Given the description of an element on the screen output the (x, y) to click on. 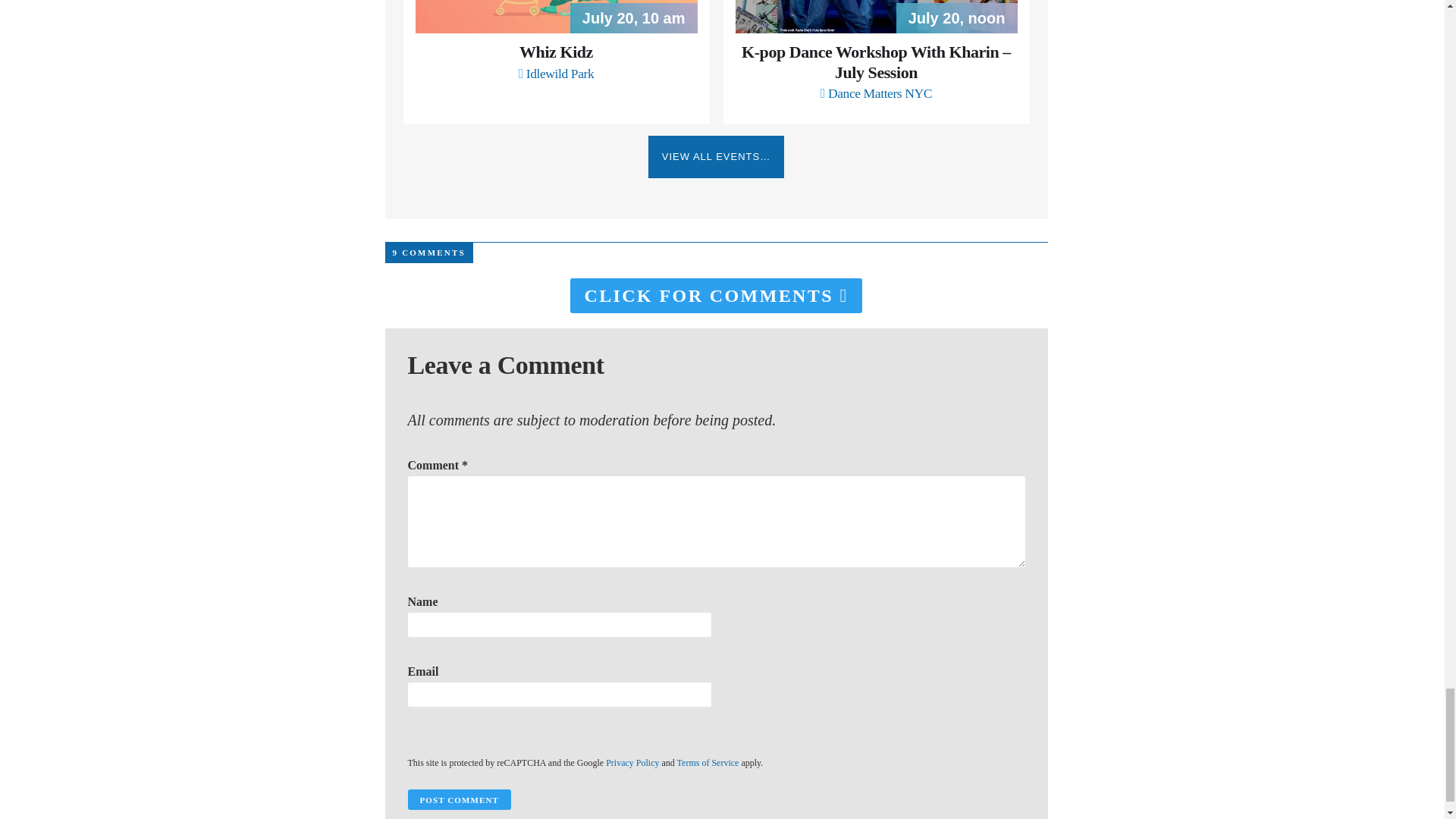
Post Comment (459, 799)
